Given the description of an element on the screen output the (x, y) to click on. 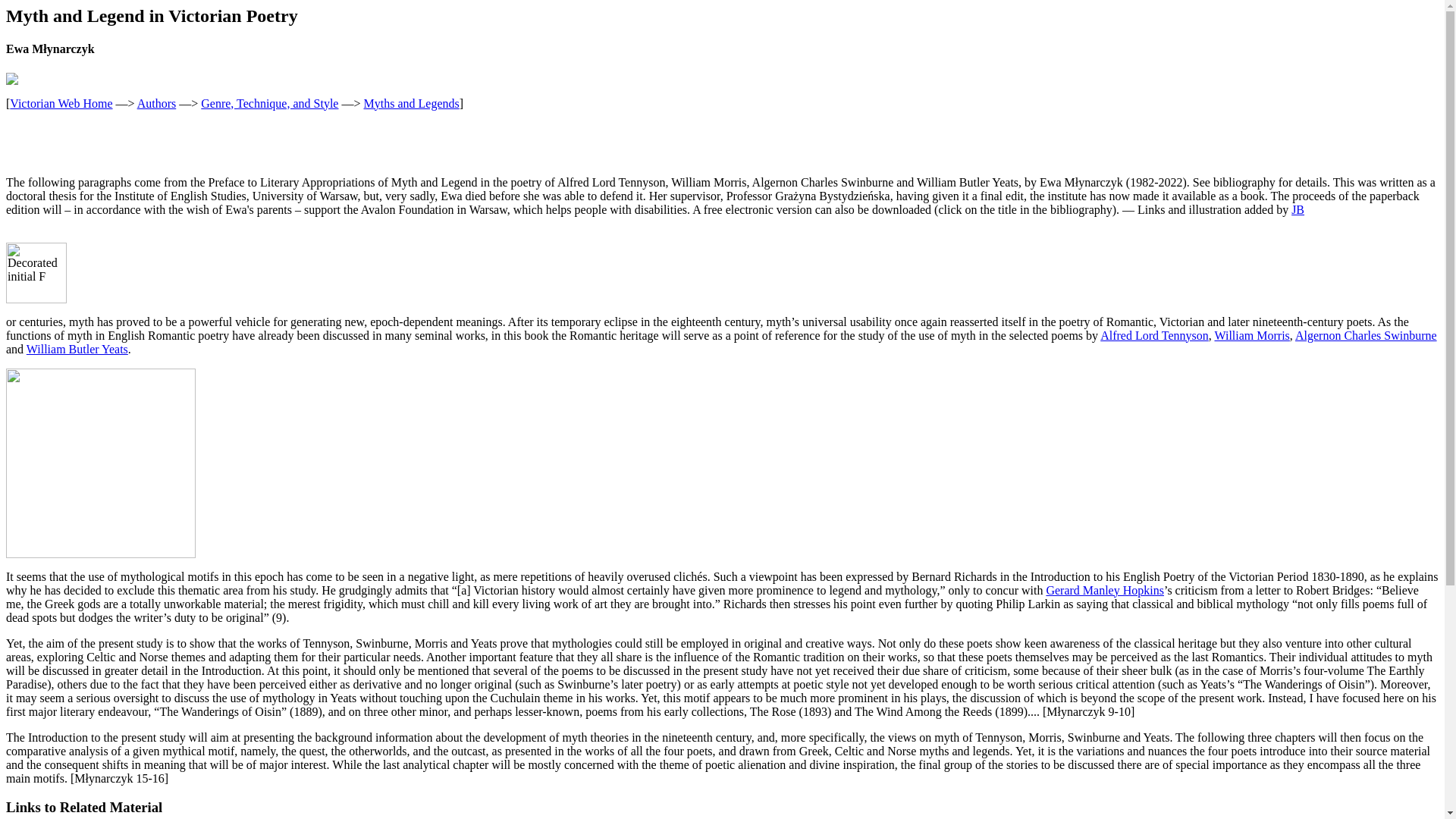
Myths and Legends (412, 103)
Authors (156, 103)
William Morris (1251, 335)
JB (1297, 209)
Victorian Web Home (61, 103)
Gerard Manley Hopkins (1104, 590)
Algernon Charles Swinburne (1366, 335)
William Butler Yeats (77, 349)
Alfred Lord Tennyson (1154, 335)
Genre, Technique, and Style (268, 103)
